Given the description of an element on the screen output the (x, y) to click on. 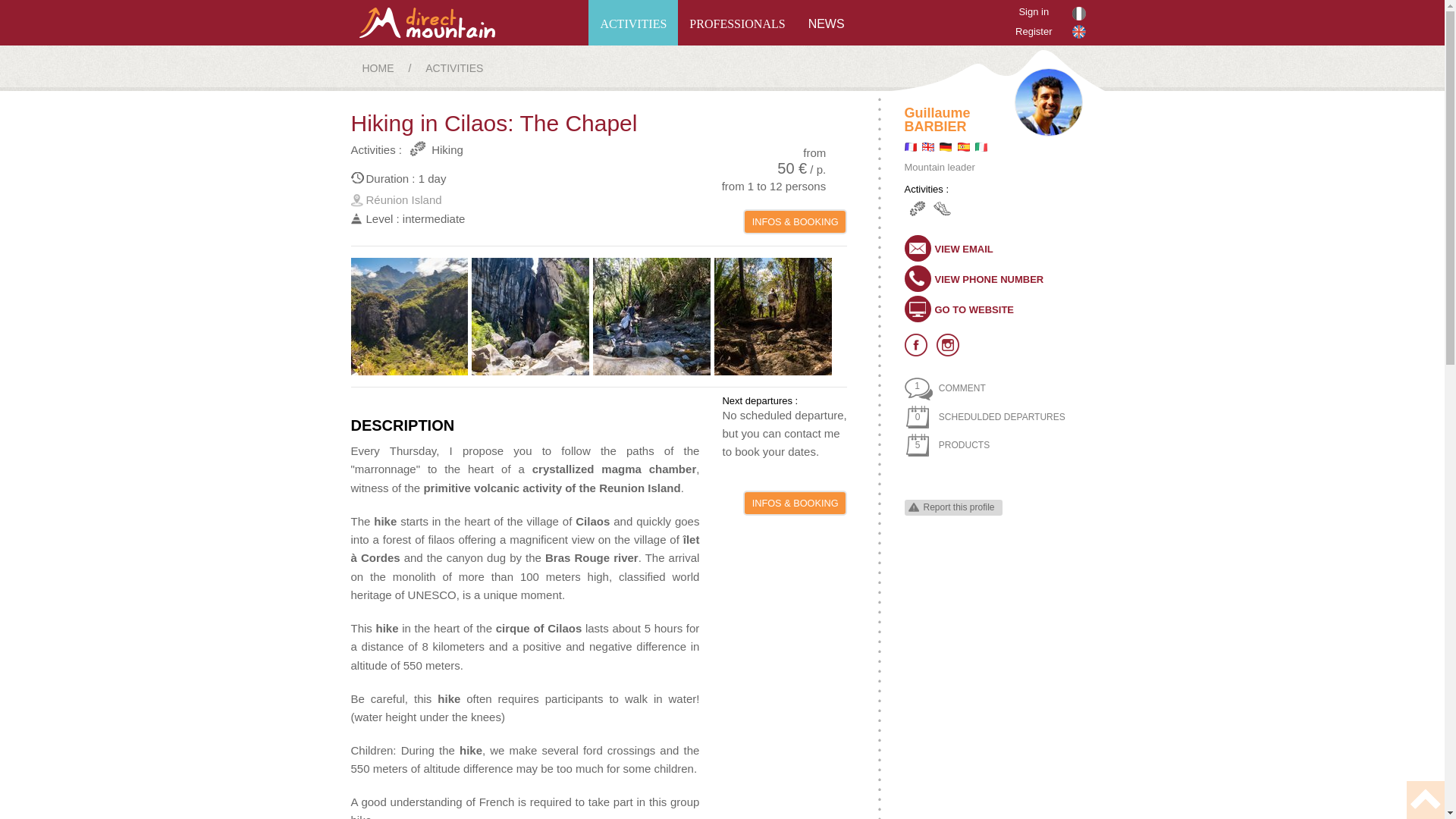
View the profile of this professional (936, 119)
NEWS (826, 22)
Trail (941, 208)
This professional speaks italian (981, 146)
PROFESSIONALS (737, 22)
ACTIVITIES (633, 22)
This professional speaks french (909, 146)
This professional speaks english (927, 146)
Hiking (433, 148)
This professional speaks spanish (963, 146)
Hiking (915, 208)
This professional speaks german (945, 146)
prices per person (756, 161)
Change to language: English (1078, 31)
